Given the description of an element on the screen output the (x, y) to click on. 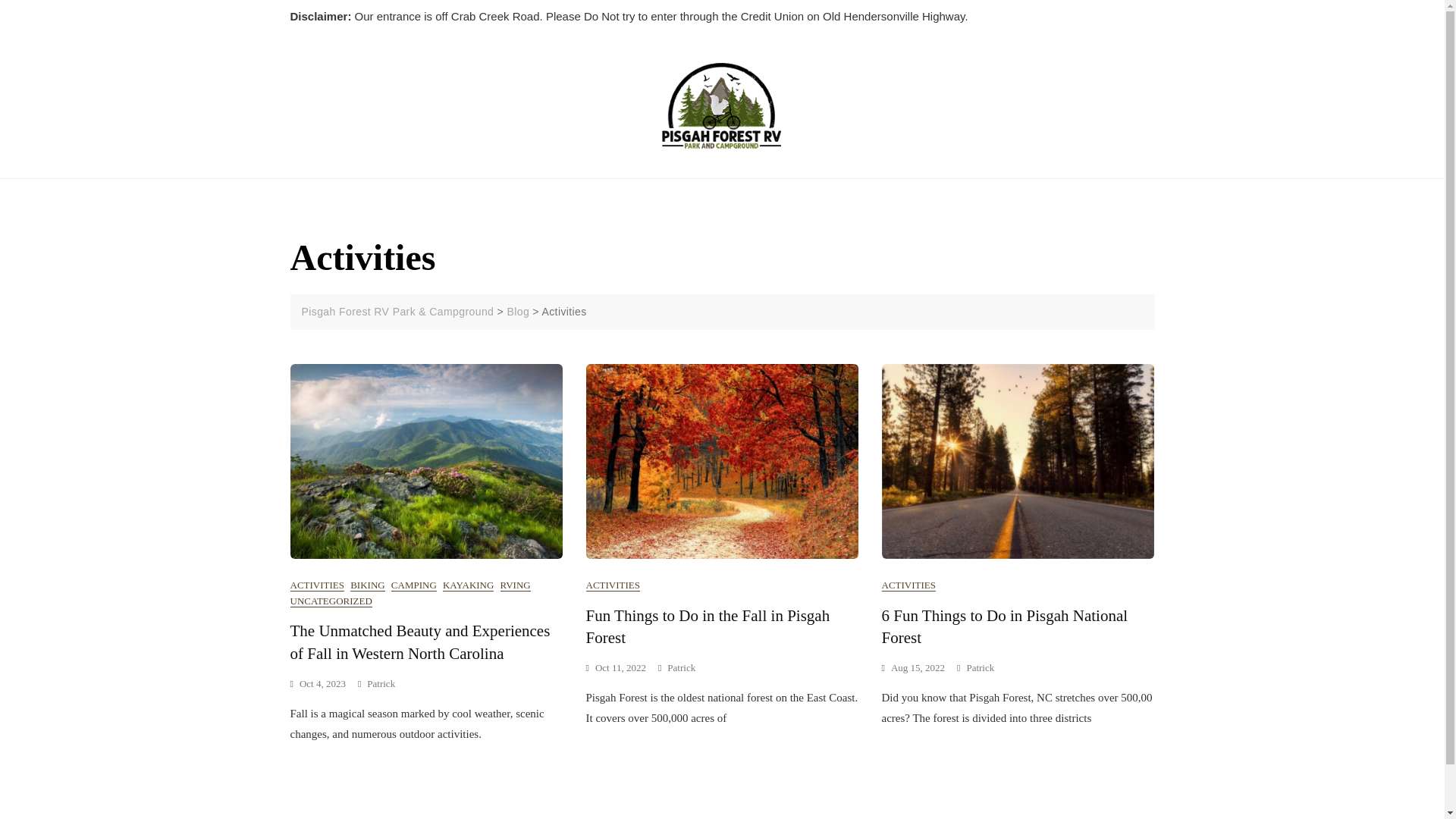
BLOG (830, 85)
BOOK NOW (329, 106)
CONTACT US (549, 106)
GALLERY (888, 85)
AREA ATTRACTIONS (438, 106)
Go to Blog. (517, 311)
RV STORAGE (969, 85)
